Given the description of an element on the screen output the (x, y) to click on. 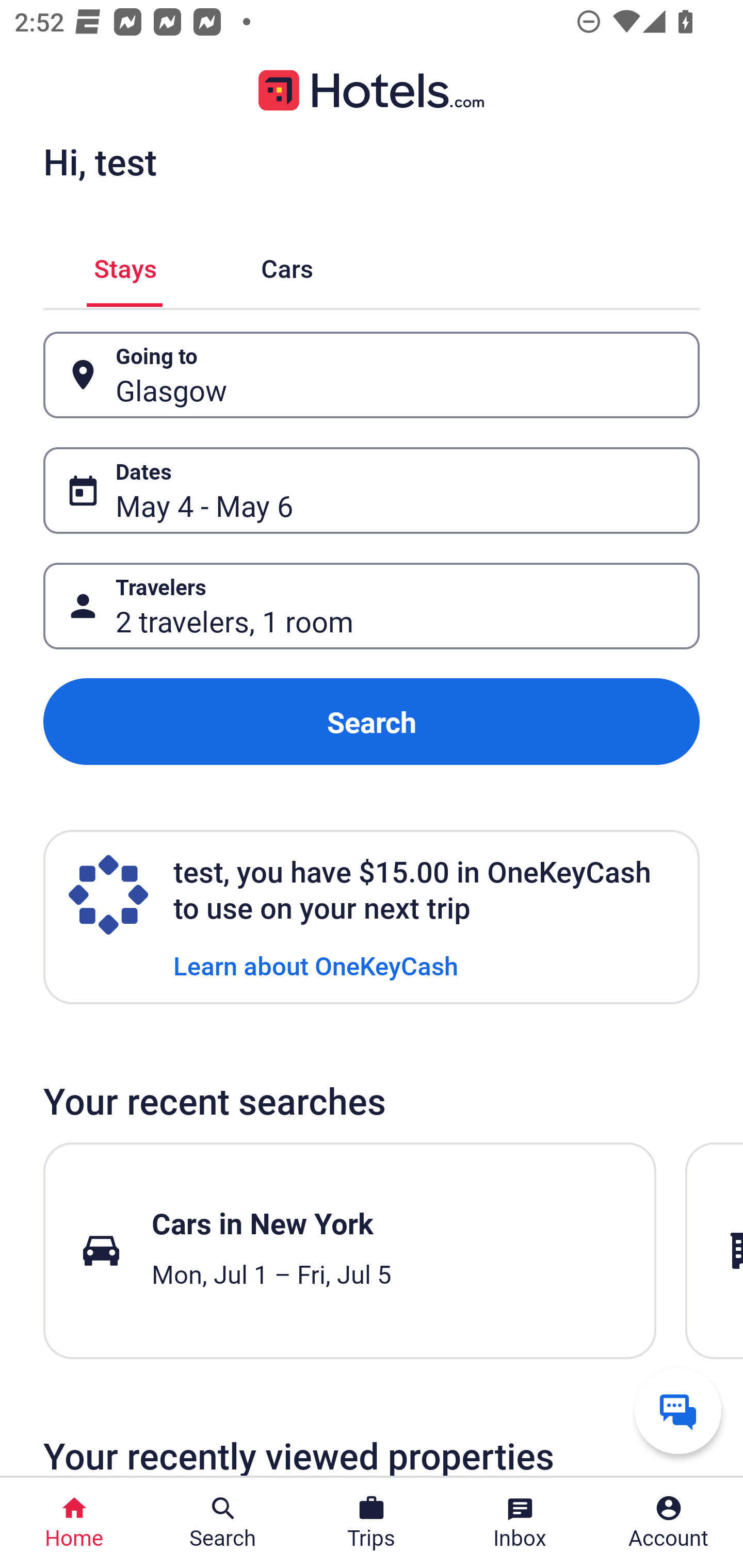
Hi, test (99, 161)
Cars (286, 265)
Going to Button Glasgow (371, 375)
Dates Button May 4 - May 6 (371, 489)
Travelers Button 2 travelers, 1 room (371, 605)
Search (371, 721)
Learn about OneKeyCash Learn about OneKeyCash Link (315, 964)
Get help from a virtual agent (677, 1410)
Search Search Button (222, 1522)
Trips Trips Button (371, 1522)
Inbox Inbox Button (519, 1522)
Account Profile. Button (668, 1522)
